Given the description of an element on the screen output the (x, y) to click on. 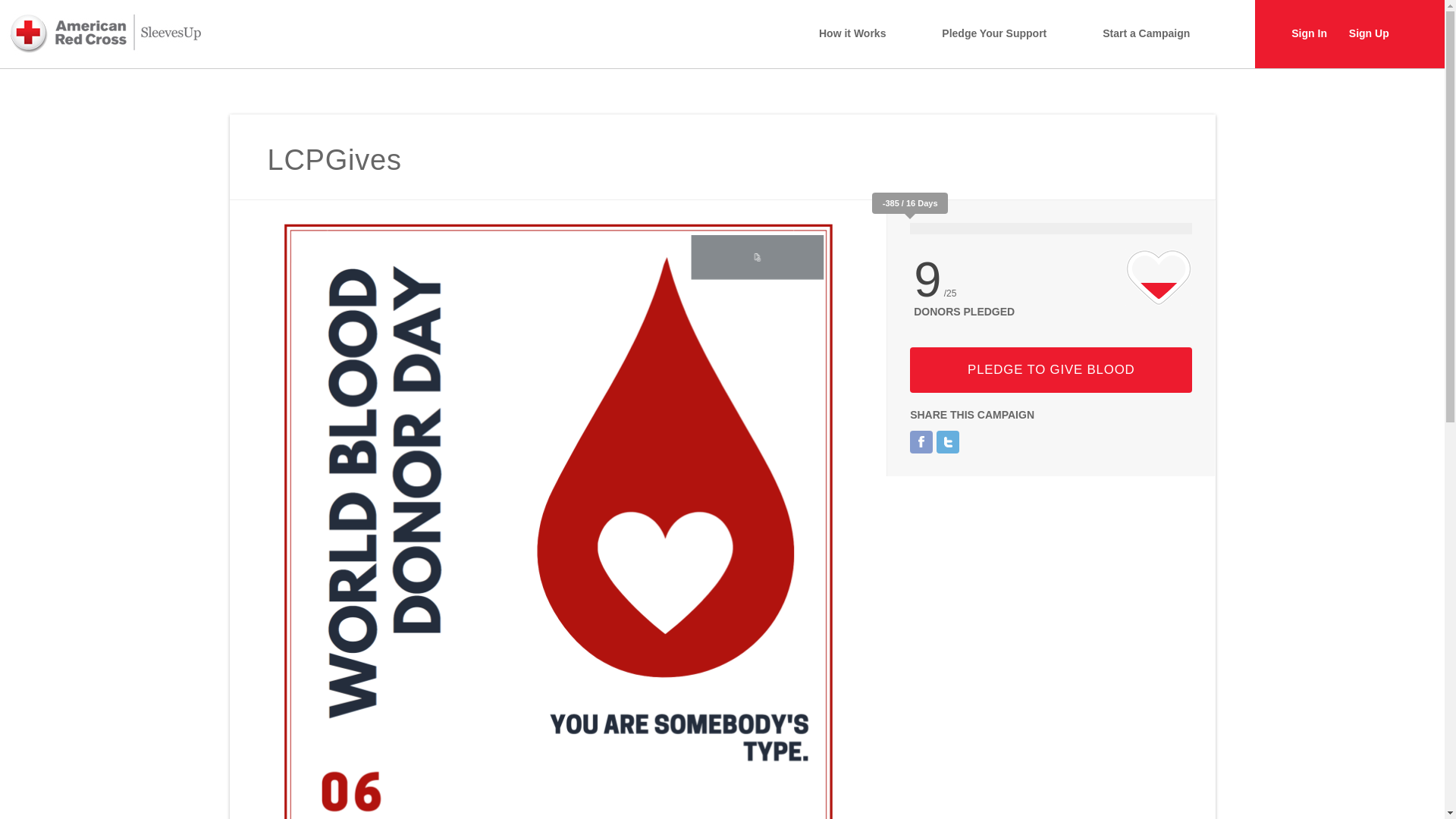
PLEDGE TO GIVE BLOOD (1051, 370)
Pledge Your Support (994, 33)
Start a Campaign (1145, 33)
Sign In (1308, 33)
Sign Up (1369, 33)
How it Works (851, 33)
